Given the description of an element on the screen output the (x, y) to click on. 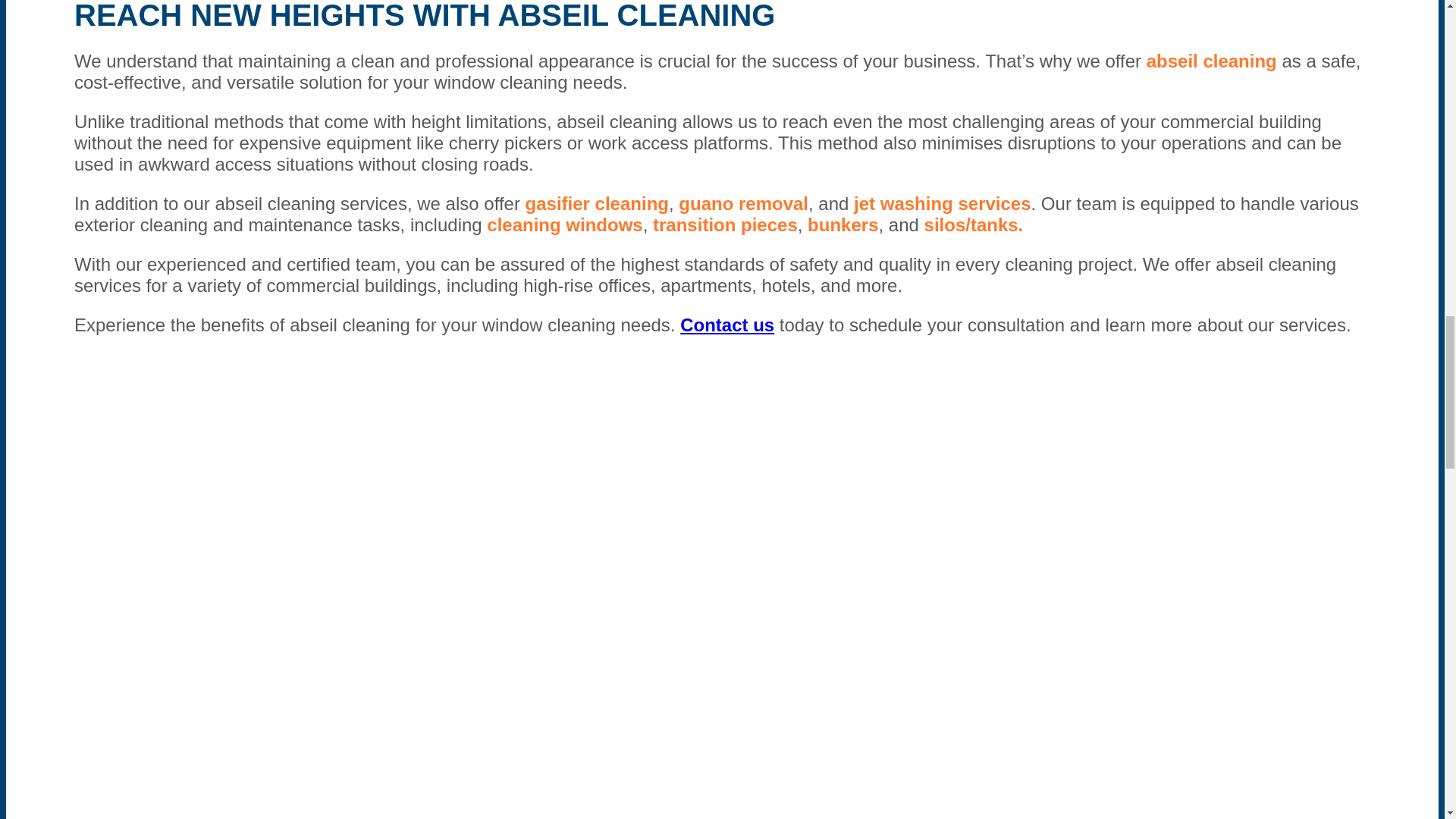
Contact us (726, 324)
